Given the description of an element on the screen output the (x, y) to click on. 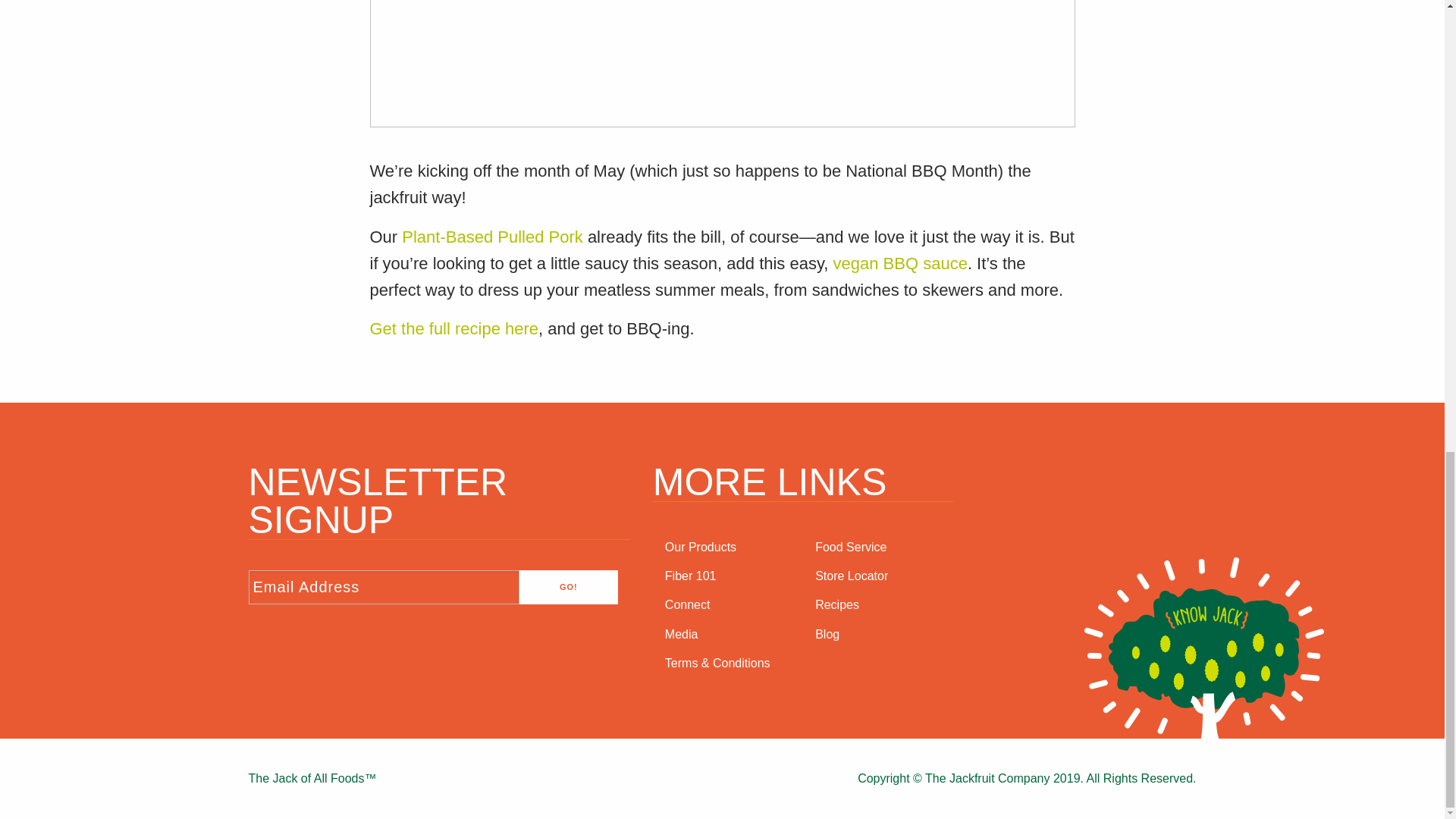
GO! (568, 587)
